Given the description of an element on the screen output the (x, y) to click on. 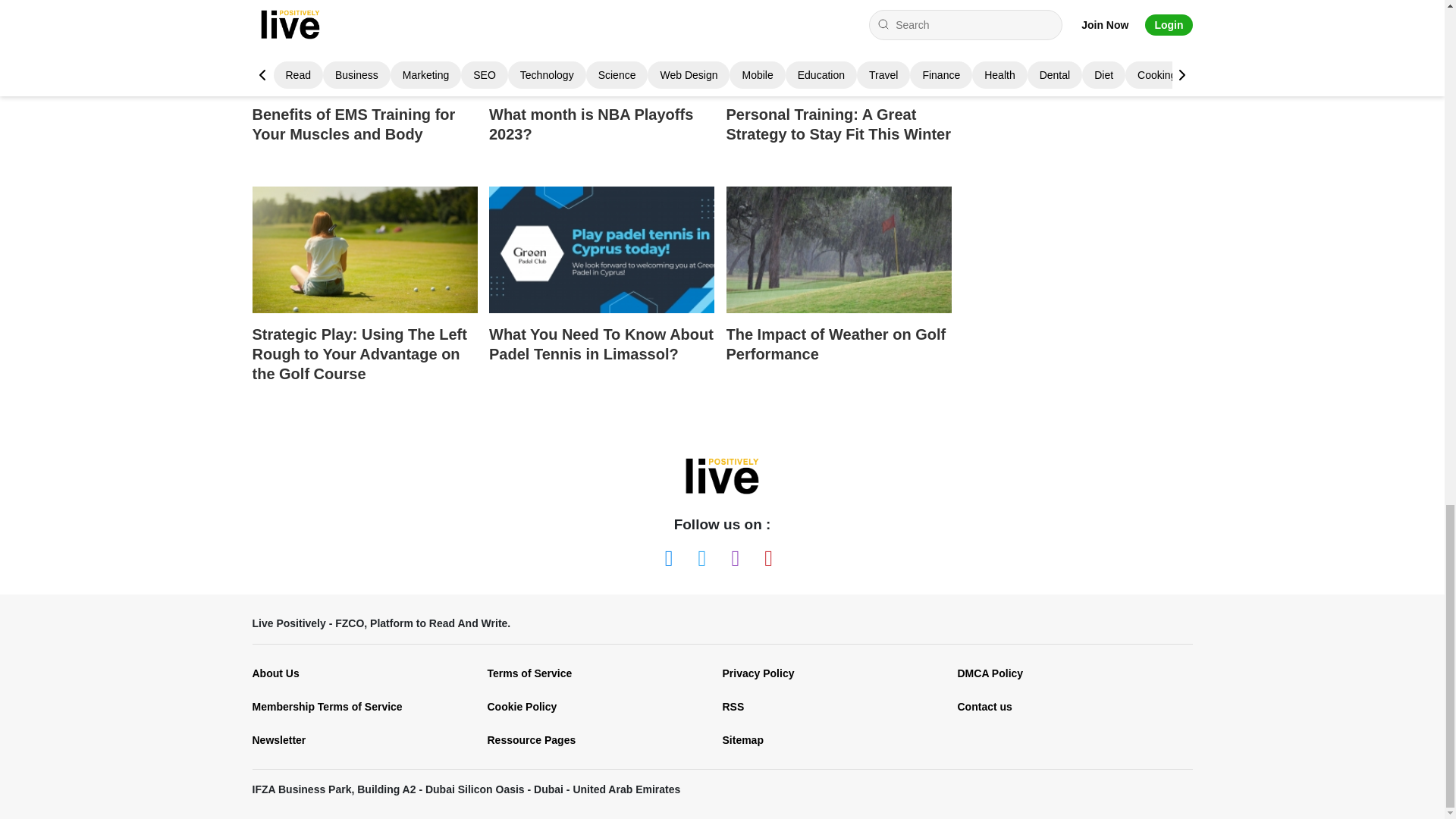
What You Need To Know About Padel Tennis in Limassol? (601, 288)
Benefits of EMS Training for Your Muscles and Body (364, 85)
Green Padel Club (601, 249)
Left rough advantage: strategic play (364, 249)
What month is NBA Playoffs 2023? (601, 46)
EMS (364, 46)
Personal Training: A Great Strategy to Stay Fit This Winter (839, 85)
Tips to Stay Active This Winter (839, 46)
What month is NBA Playoffs 2023? (601, 85)
